Given the description of an element on the screen output the (x, y) to click on. 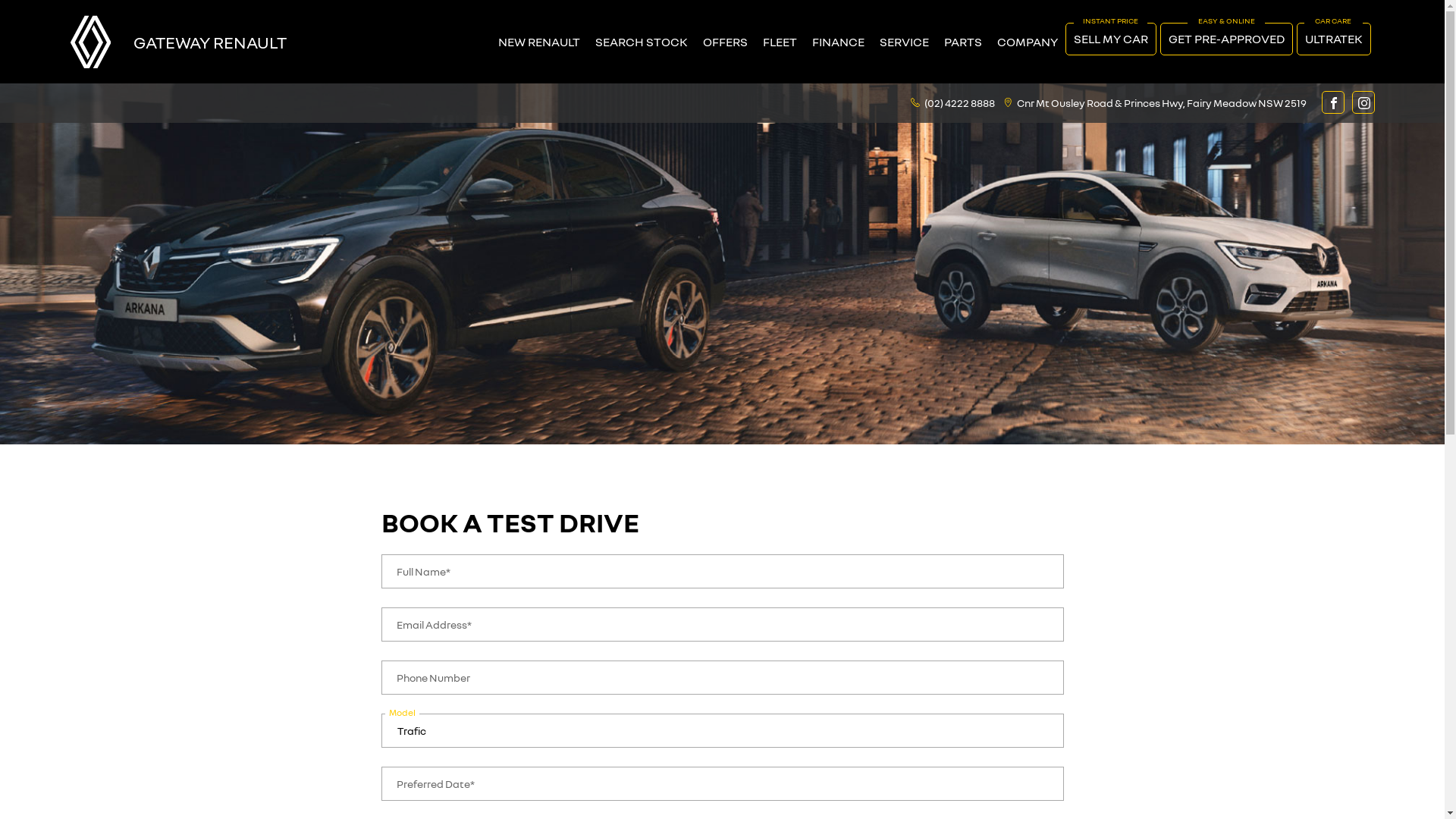
SEARCH STOCK Element type: text (640, 41)
COMPANY Element type: text (1026, 41)
SELL MY CAR Element type: text (1109, 38)
PARTS Element type: text (961, 41)
SERVICE Element type: text (904, 41)
FLEET Element type: text (779, 41)
Cnr Mt Ousley Road & Princes Hwy, Fairy Meadow NSW 2519 Element type: text (1160, 101)
OFFERS Element type: text (724, 41)
(02) 4222 8888 Element type: text (958, 101)
GET PRE-APPROVED Element type: text (1226, 38)
FINANCE Element type: text (837, 41)
ULTRATEK Element type: text (1333, 38)
GATEWAY RENAULT Element type: text (209, 41)
NEW RENAULT Element type: text (537, 41)
